Given the description of an element on the screen output the (x, y) to click on. 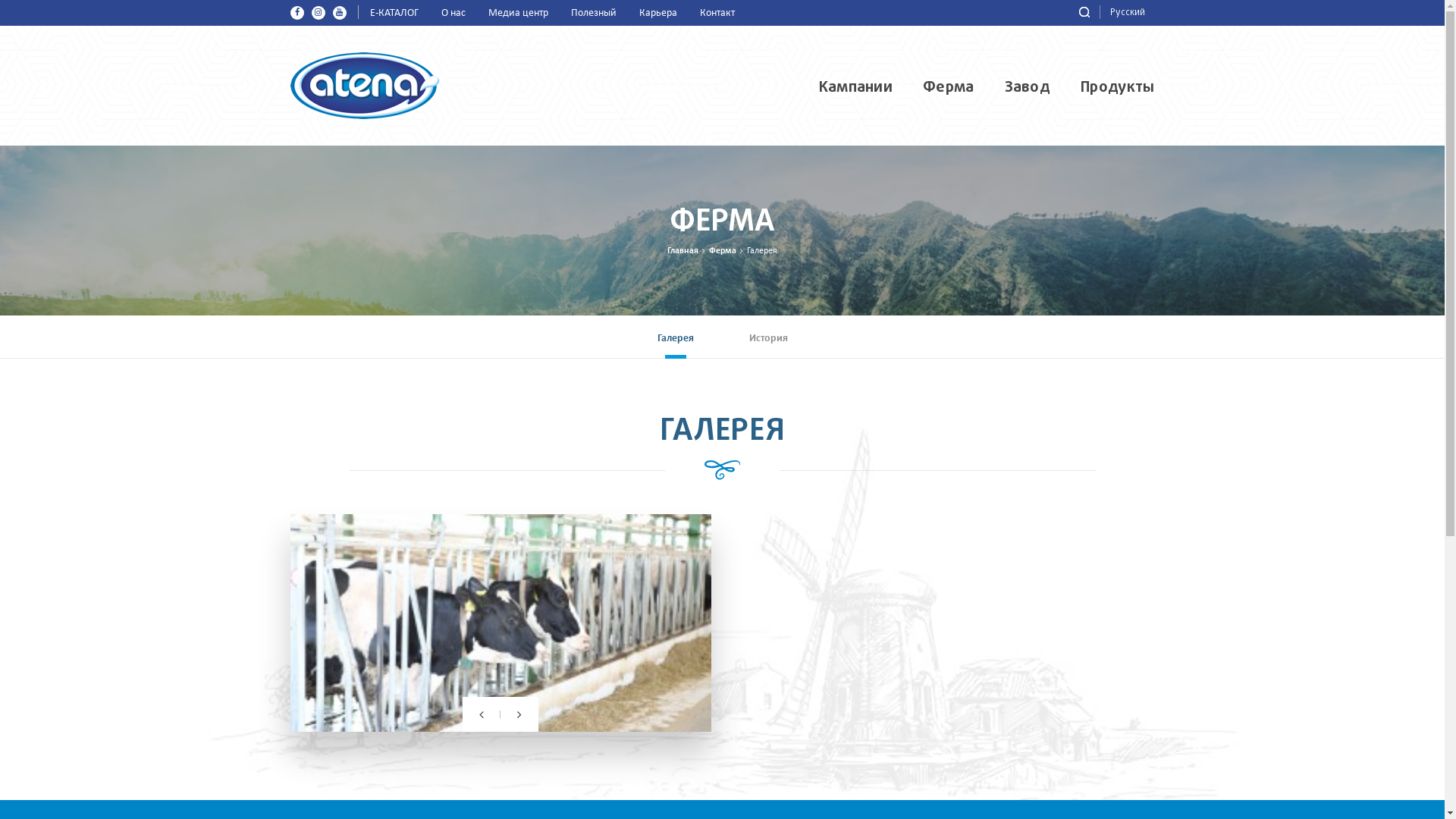
English Element type: text (1137, 32)
Atena MMC Element type: hover (364, 84)
